Given the description of an element on the screen output the (x, y) to click on. 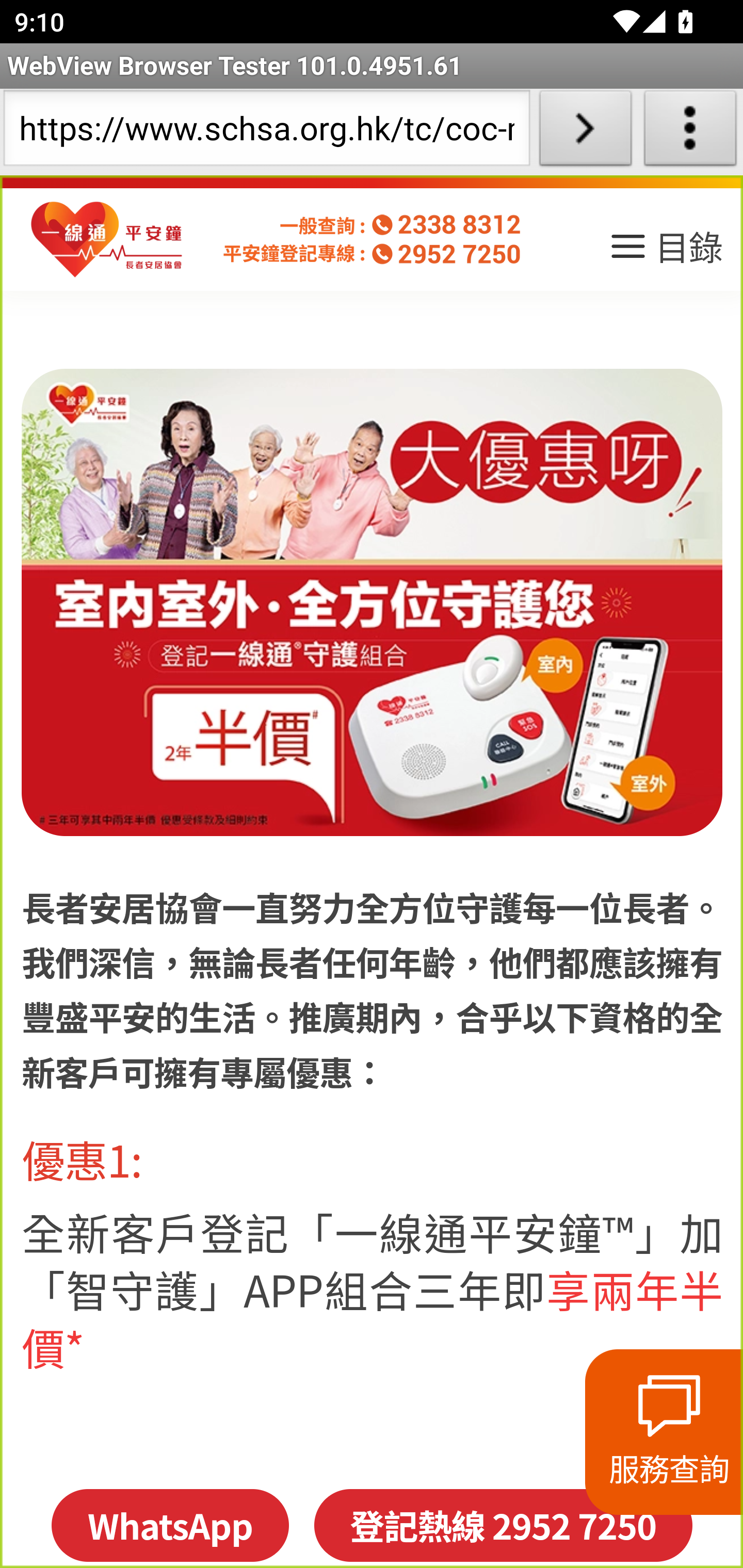
Load URL (585, 132)
About WebView (690, 132)
homepage (107, 240)
目錄 (665, 252)
服務查詢 (664, 1432)
WhatsApp (169, 1525)
登記熱線 2952 7250 (502, 1525)
